Given the description of an element on the screen output the (x, y) to click on. 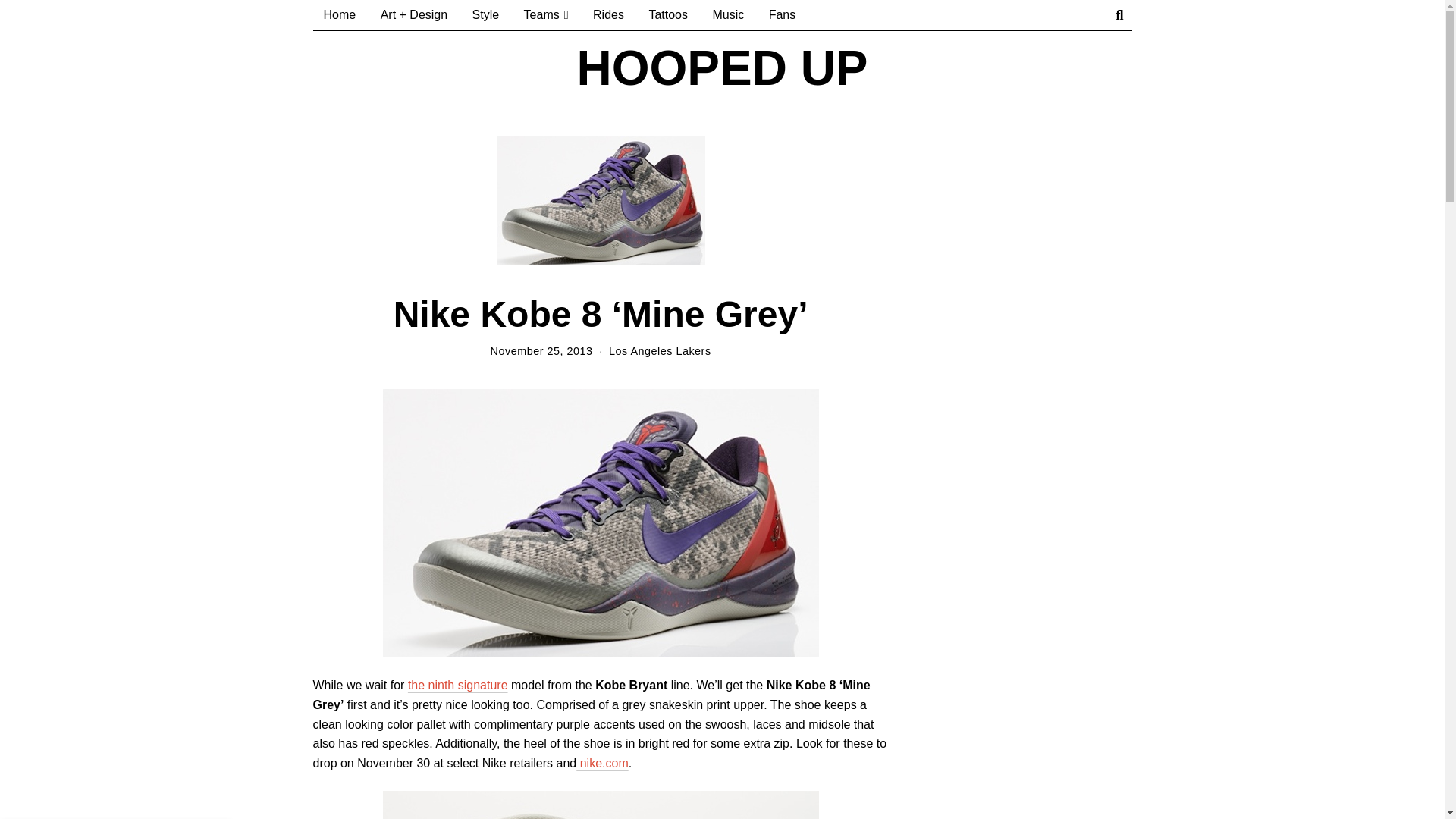
Home (339, 15)
Tattoos (667, 15)
Teams (546, 15)
Music (727, 15)
Fans (782, 15)
Rides (608, 15)
Style (486, 15)
